Given the description of an element on the screen output the (x, y) to click on. 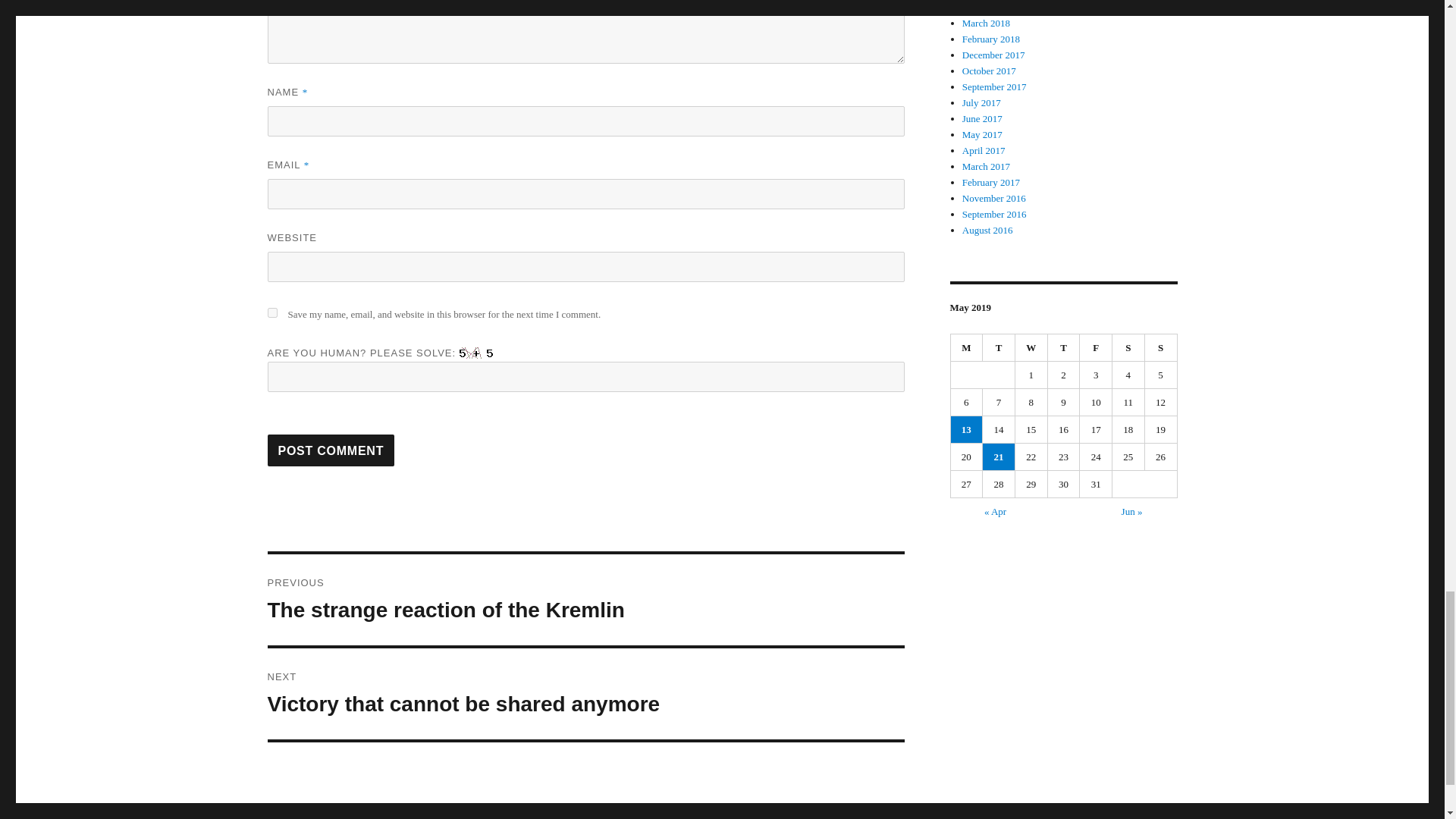
yes (271, 312)
Post Comment (330, 450)
Tuesday (998, 347)
Wednesday (1031, 347)
Sunday (585, 599)
Friday (1160, 347)
Post Comment (1096, 347)
Thursday (330, 450)
Saturday (1064, 347)
Monday (1128, 347)
